Given the description of an element on the screen output the (x, y) to click on. 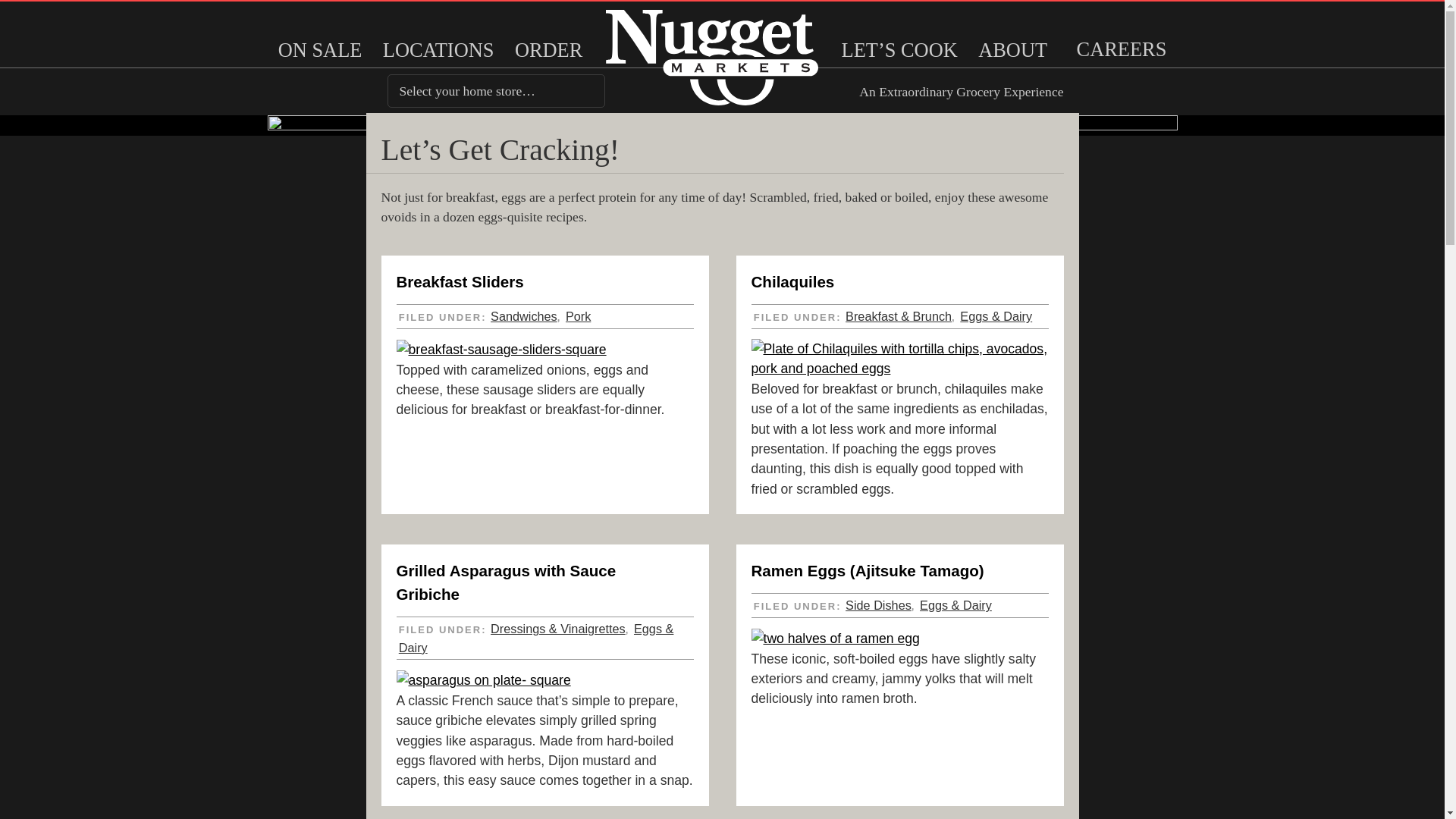
ABOUT (1012, 49)
ON SALE (320, 49)
ORDER (548, 49)
LOCATIONS (438, 49)
CAREERS (1122, 48)
